Given the description of an element on the screen output the (x, y) to click on. 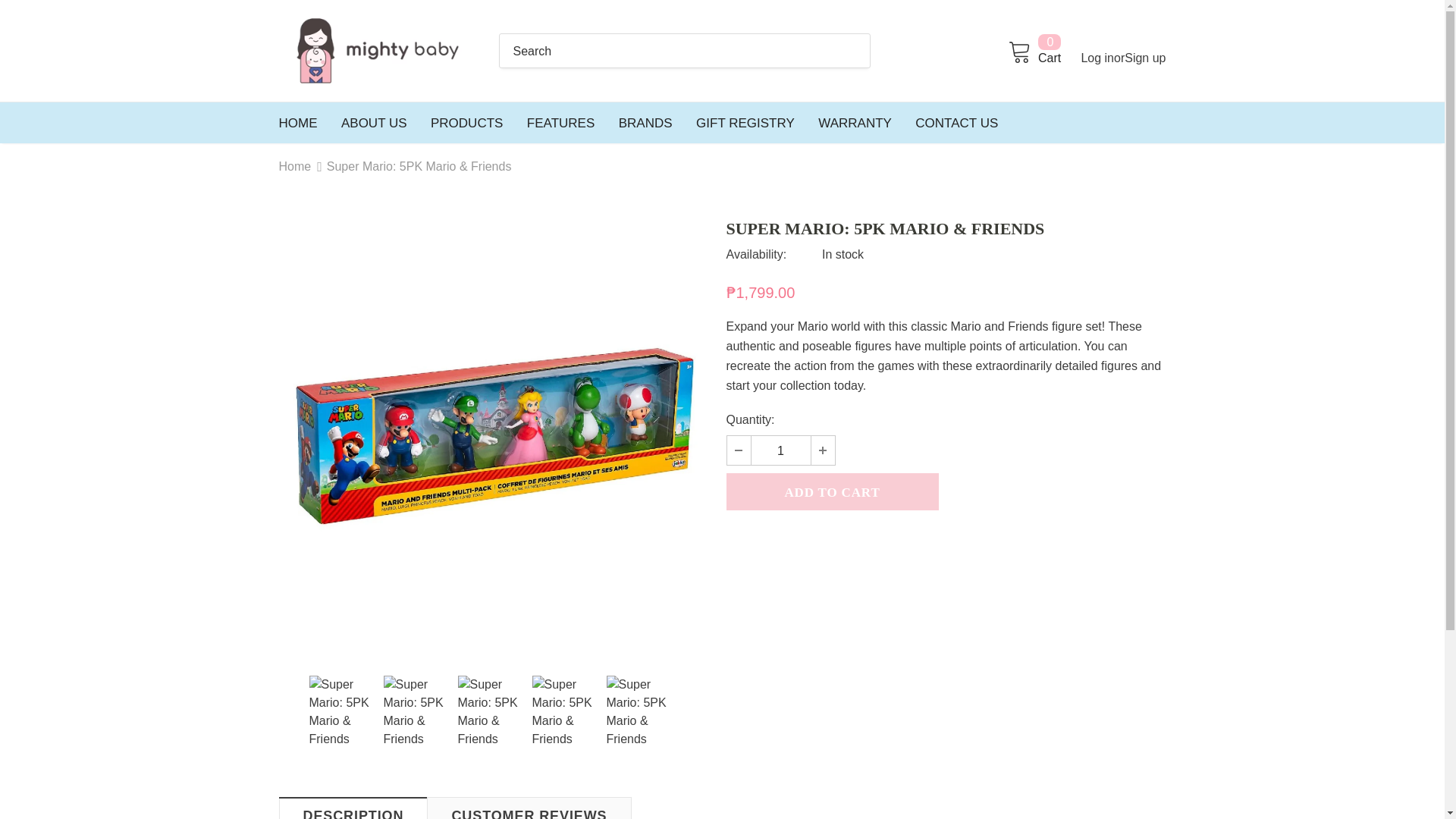
PRODUCTS (466, 122)
Sign up (1145, 57)
Add to Cart (832, 491)
1 (1033, 50)
Cart (780, 450)
Logo (1033, 50)
Log in (377, 50)
ABOUT US (1096, 57)
HOME (373, 122)
